Given the description of an element on the screen output the (x, y) to click on. 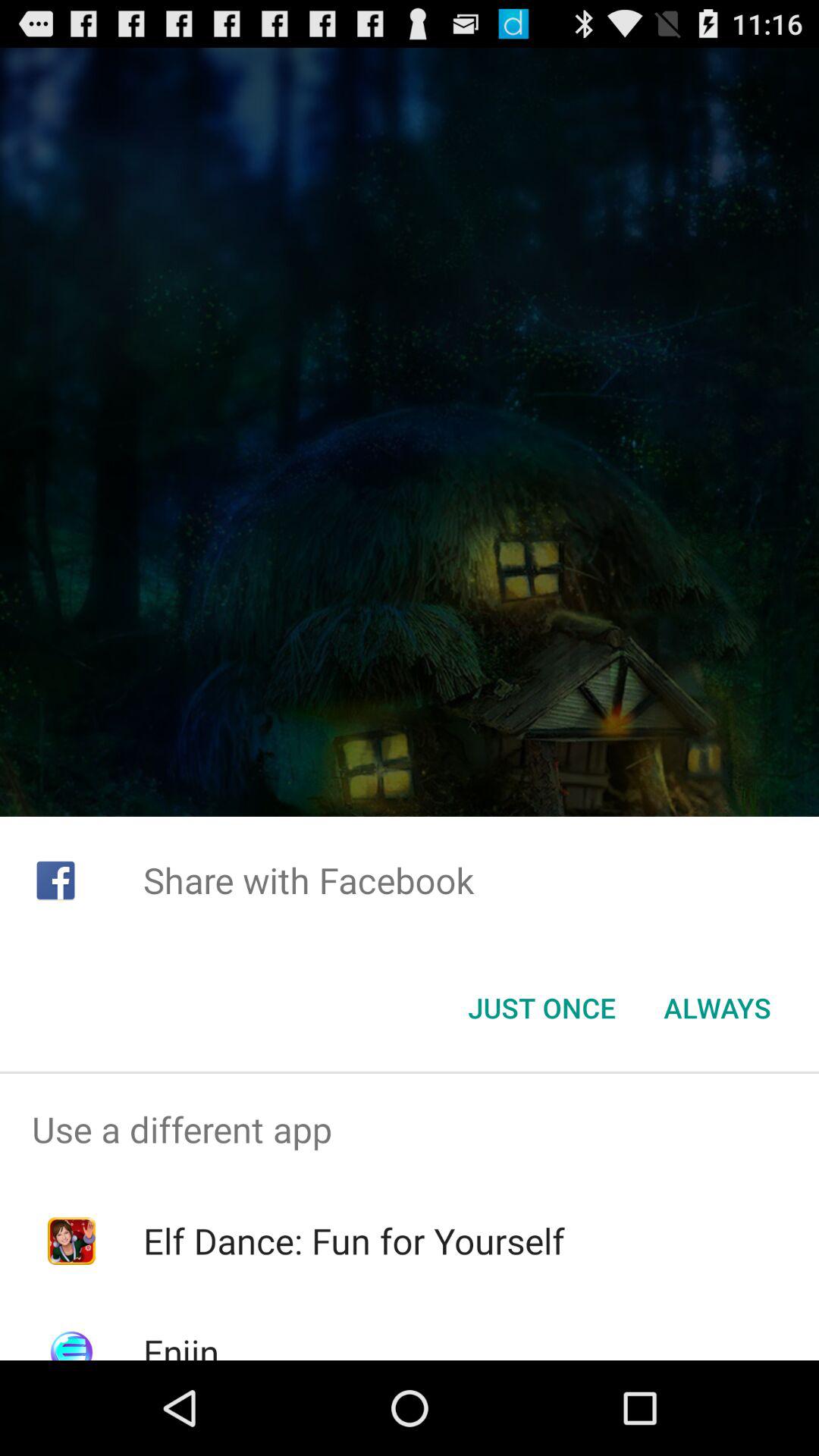
tap app above enjin app (353, 1240)
